Given the description of an element on the screen output the (x, y) to click on. 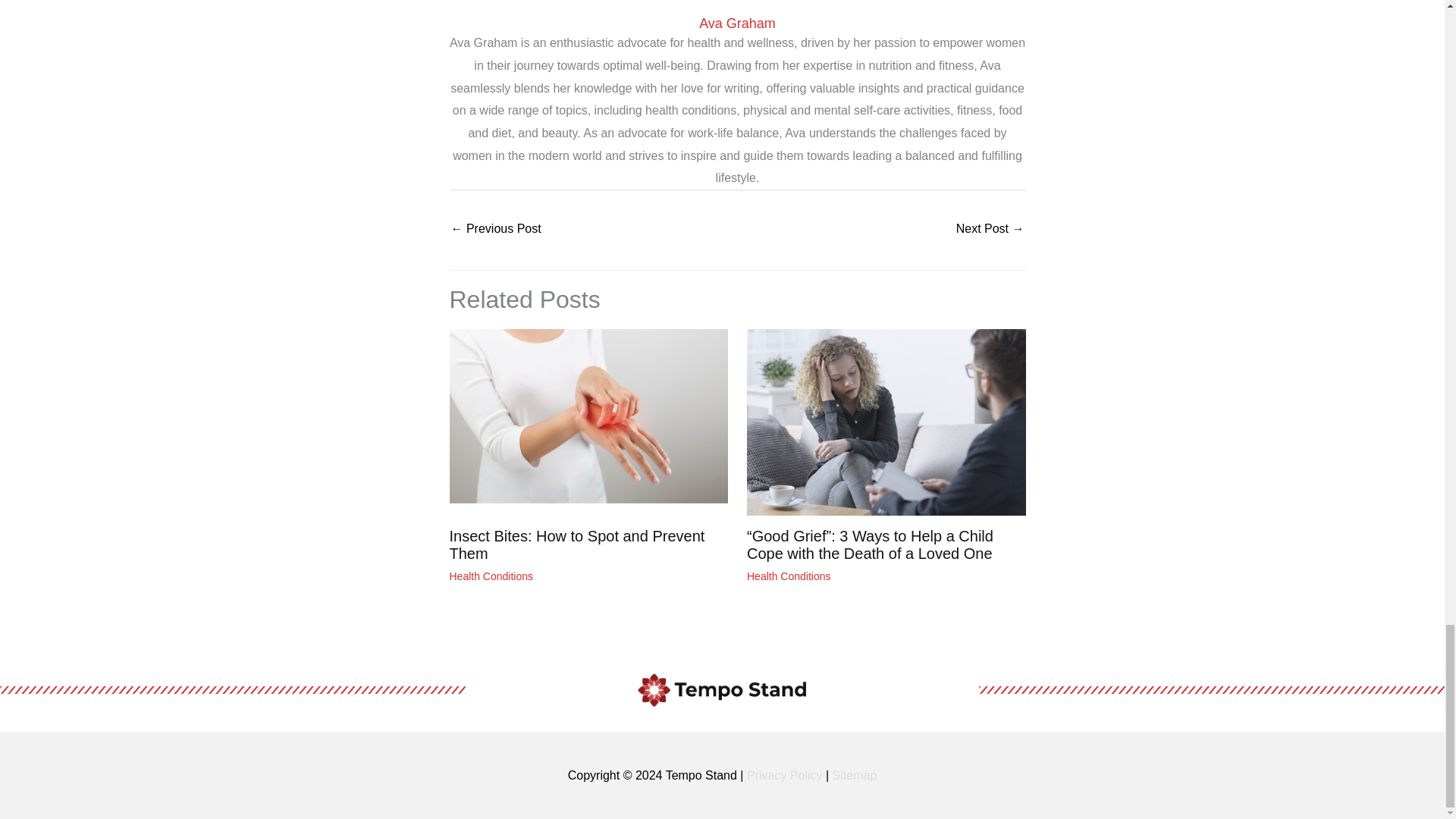
Insect Bites: How to Spot and Prevent Them (576, 544)
Ava Graham (736, 23)
Privacy Policy (784, 775)
Sitemap (854, 775)
Planning for a Memorable Outdoor Wedding (494, 230)
Health Conditions (490, 576)
Health Conditions (788, 576)
